Given the description of an element on the screen output the (x, y) to click on. 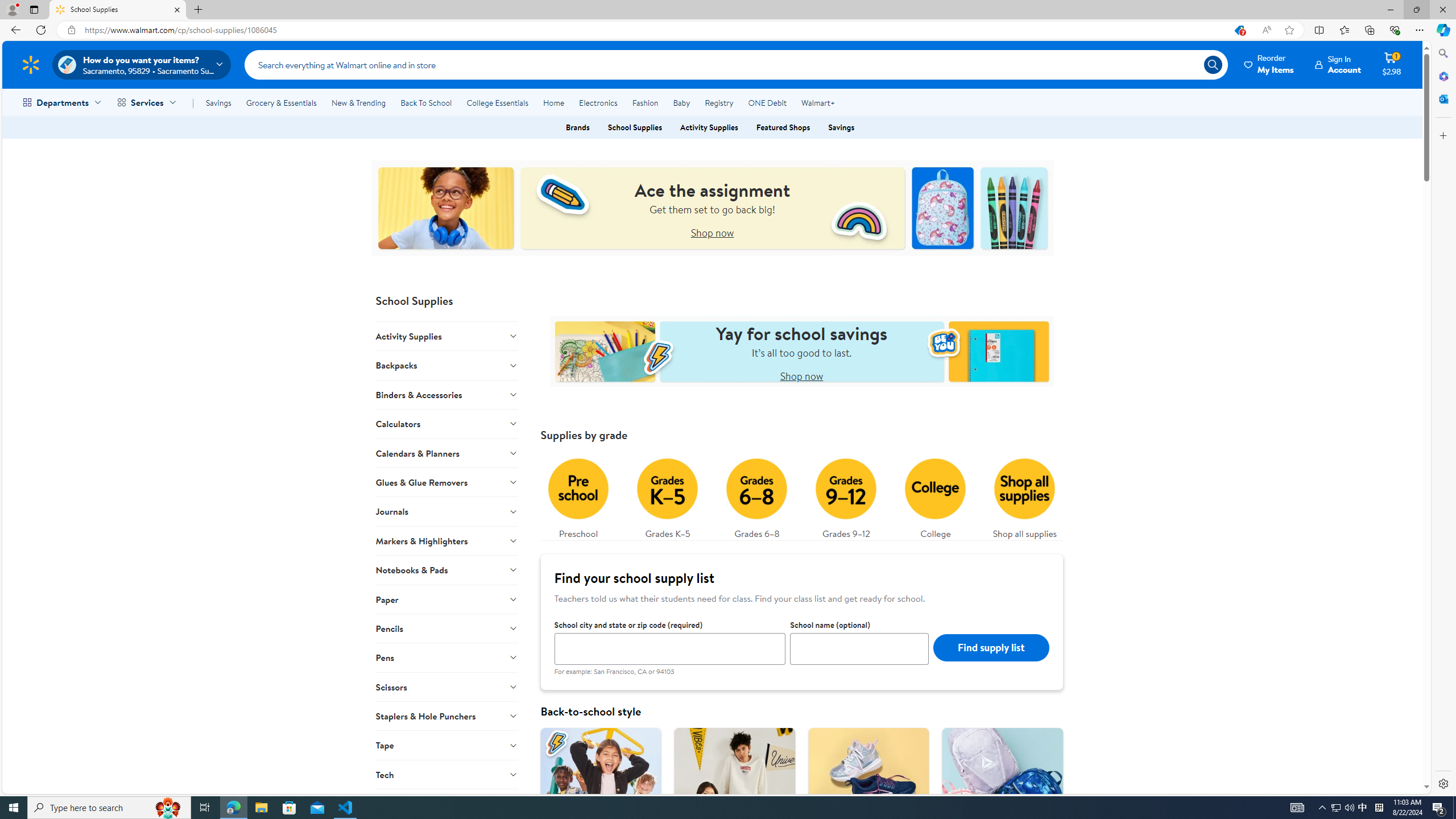
Search icon (1212, 64)
Baby (681, 102)
Backpacks (446, 365)
School Supplies (634, 126)
ONE Debit (767, 102)
Walmart Homepage (30, 64)
Activity Supplies (446, 335)
